Given the description of an element on the screen output the (x, y) to click on. 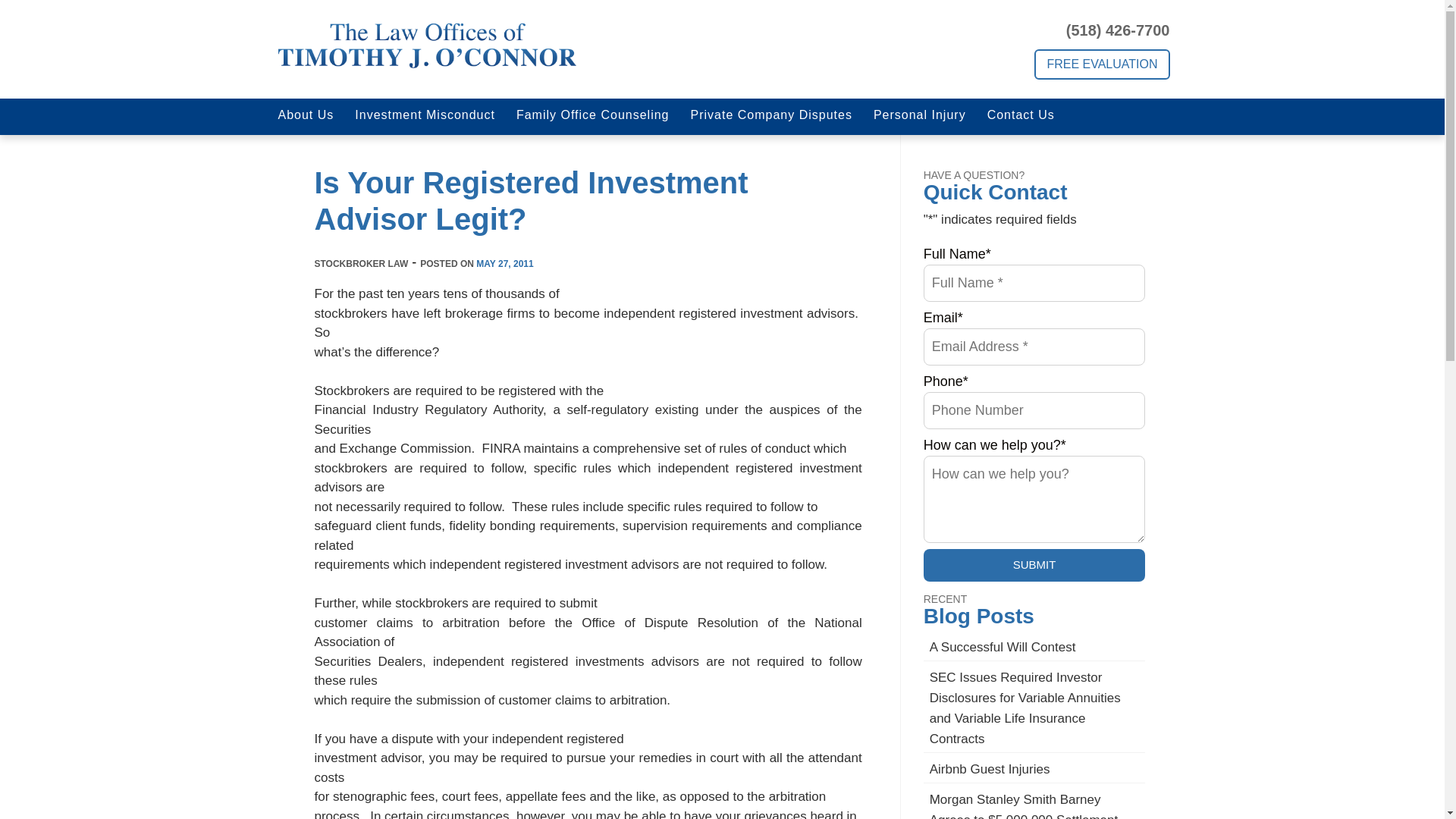
Family Office Counseling (592, 116)
About Us (304, 116)
Contact Us (1020, 116)
Investment Misconduct (424, 116)
Personal Injury (919, 116)
MAY 27, 2011 (504, 263)
Private Company Disputes (770, 116)
Is Your Registered Investment Advisor Legit? (531, 200)
FREE EVALUATION (1101, 64)
